Given the description of an element on the screen output the (x, y) to click on. 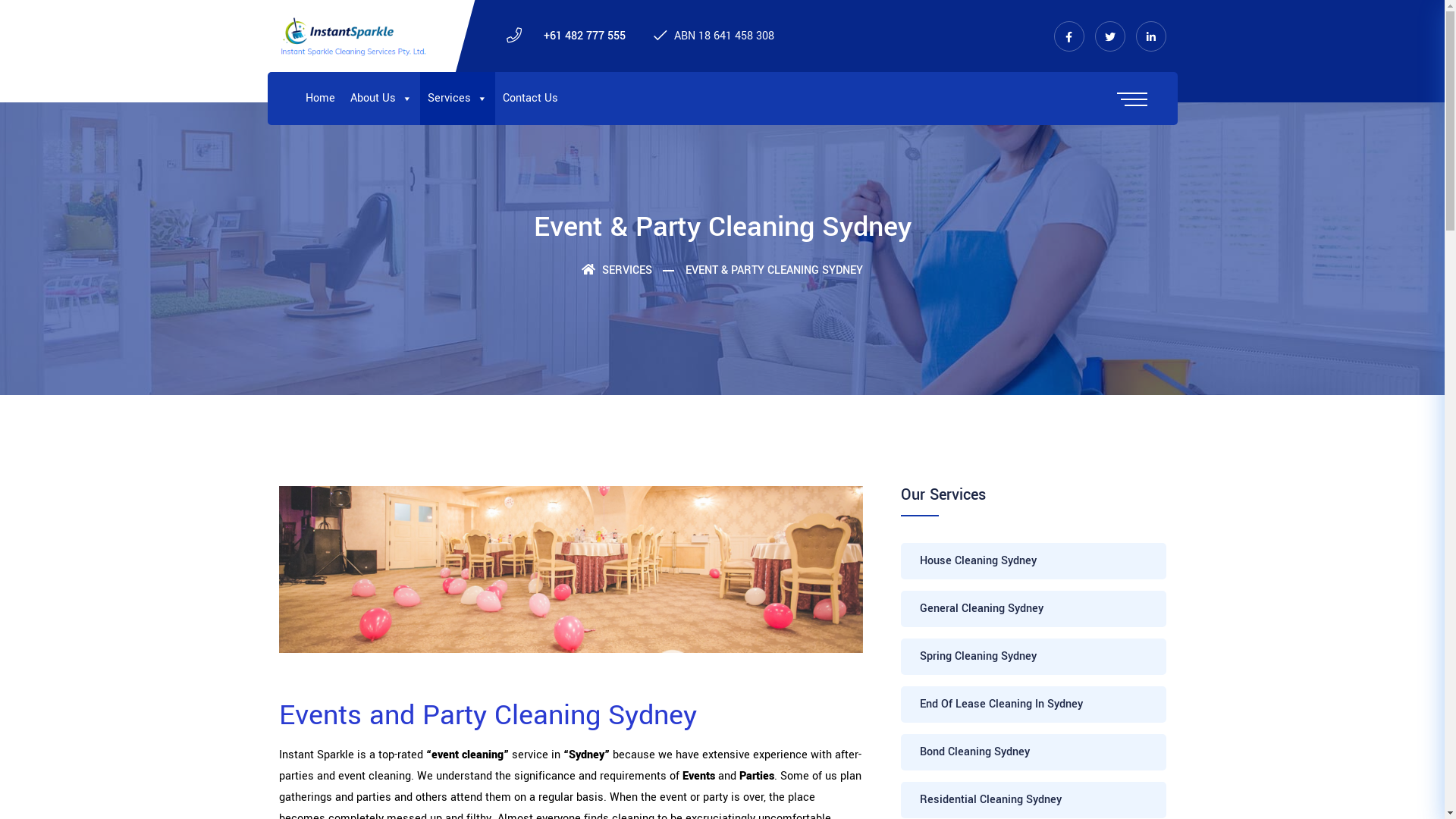
Spring Cleaning Sydney Element type: text (1033, 656)
+61 482 777 555 Element type: text (583, 35)
Contact Us Element type: text (529, 98)
Residential Cleaning Sydney Element type: text (1033, 799)
House Cleaning Sydney Element type: text (1033, 560)
SERVICES Element type: text (616, 270)
End Of Lease Cleaning In Sydney Element type: text (1033, 704)
Home Element type: text (319, 98)
About Us Element type: text (381, 98)
Services Element type: text (457, 98)
General Cleaning Sydney Element type: text (1033, 608)
Bond Cleaning Sydney Element type: text (1033, 752)
